Given the description of an element on the screen output the (x, y) to click on. 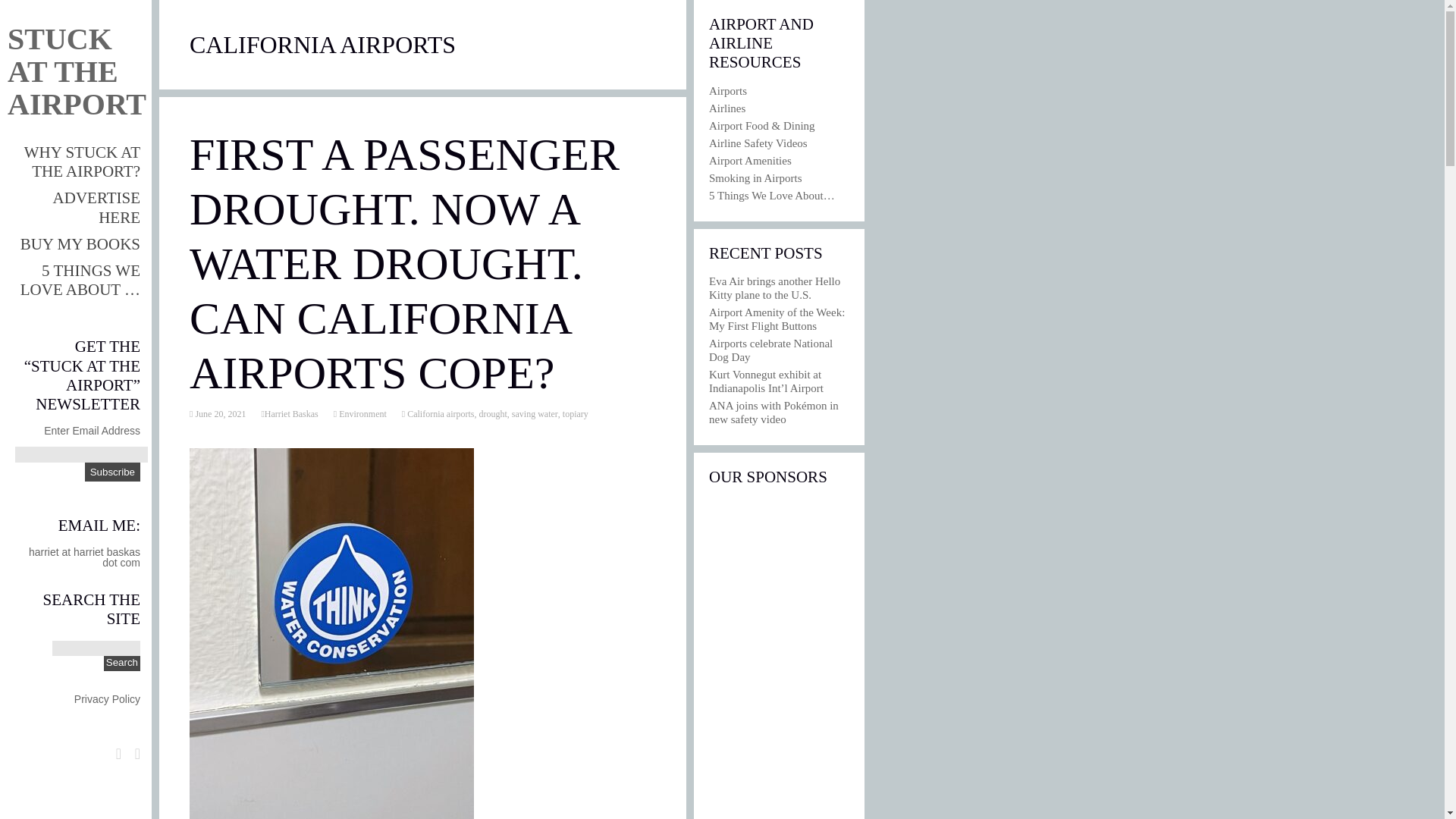
topiary (575, 413)
Airports (727, 91)
Airlines (727, 108)
harriet at harriet baskas dot com (84, 557)
Search (121, 663)
June 20, 2021 (219, 413)
Airport Amenities (750, 160)
View all posts by Harriet Baskas (291, 413)
Search (121, 663)
ADVERTISE HERE (95, 207)
